Given the description of an element on the screen output the (x, y) to click on. 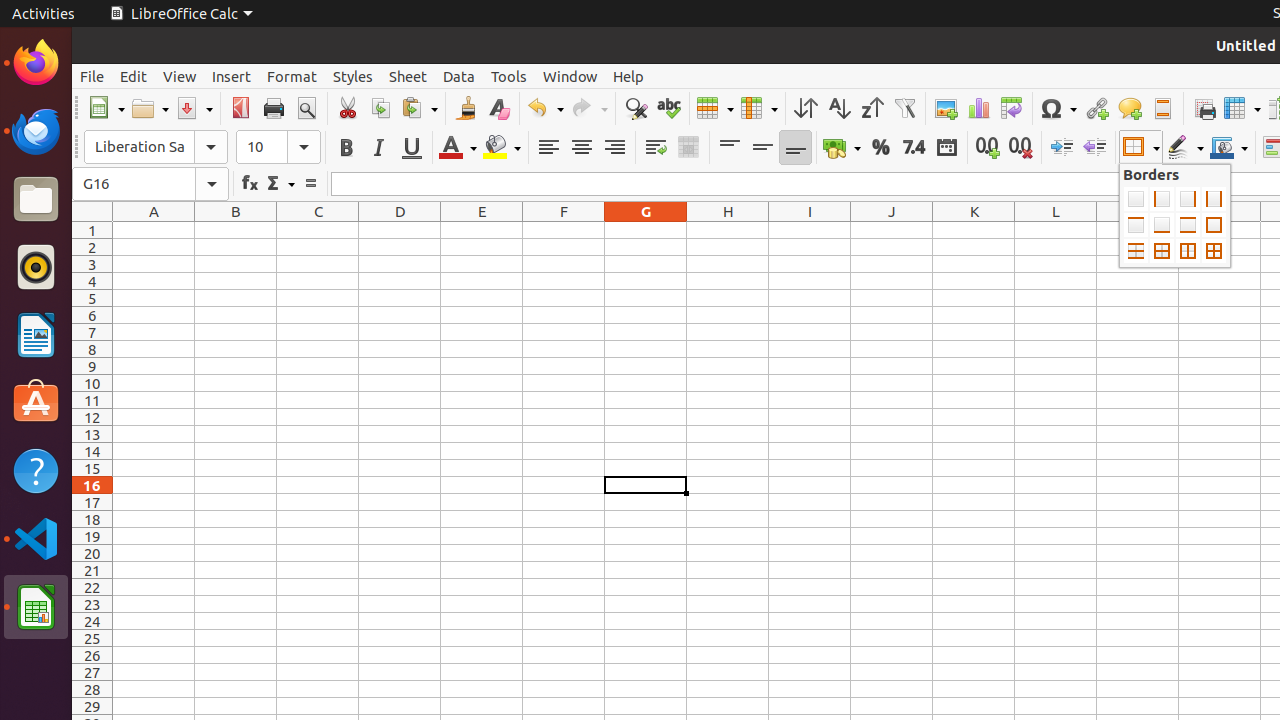
Background Color Element type: push-button (502, 147)
Ubuntu Software Element type: push-button (36, 402)
B1 Element type: table-cell (236, 230)
Open Element type: push-button (150, 108)
A1 Element type: table-cell (154, 230)
